Given the description of an element on the screen output the (x, y) to click on. 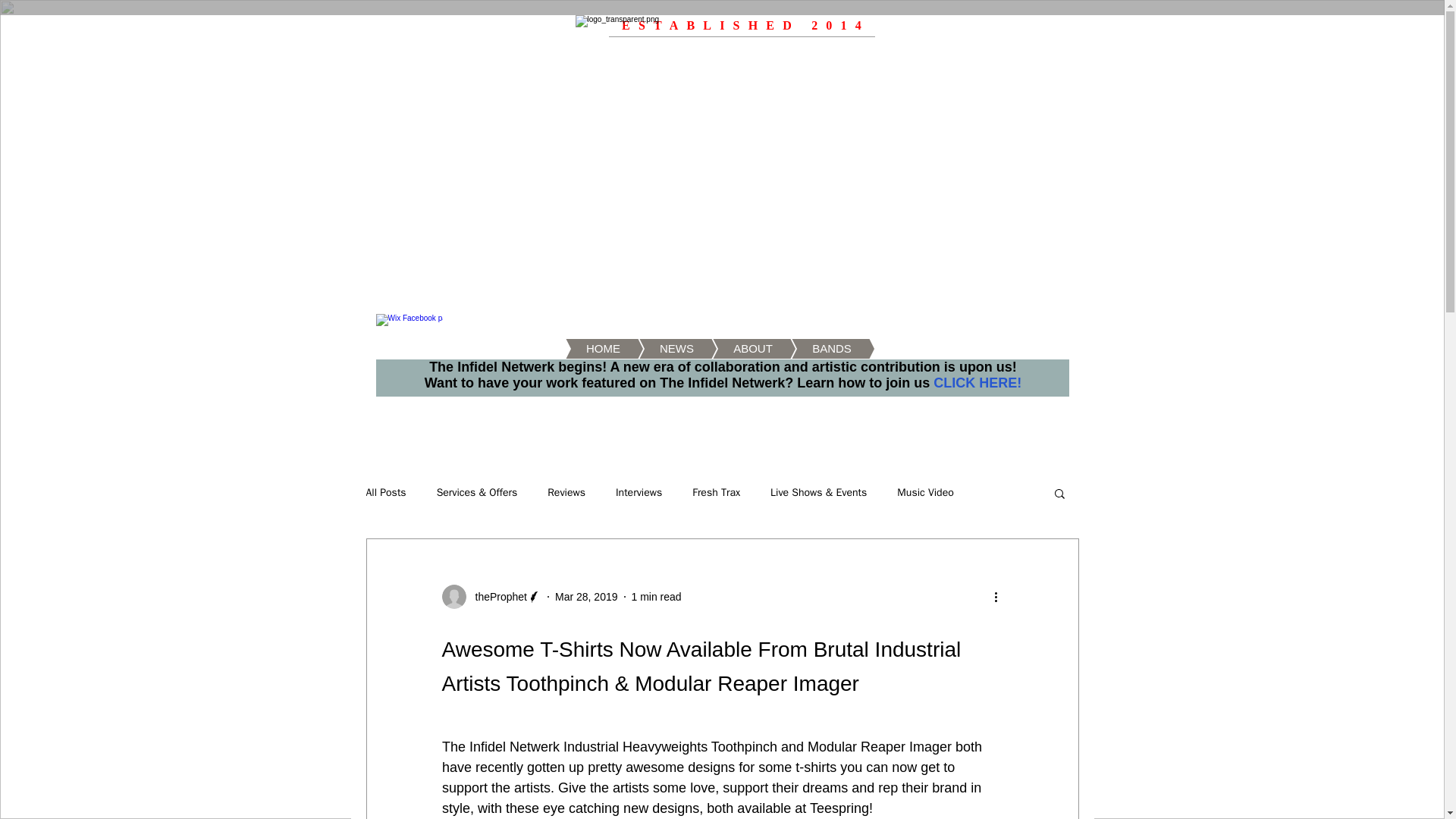
Mar 28, 2019 (585, 595)
HOME (580, 348)
BANDS (809, 348)
theProphet (496, 596)
ABOUT (729, 348)
1 min read (655, 595)
NEWS (653, 348)
